Given the description of an element on the screen output the (x, y) to click on. 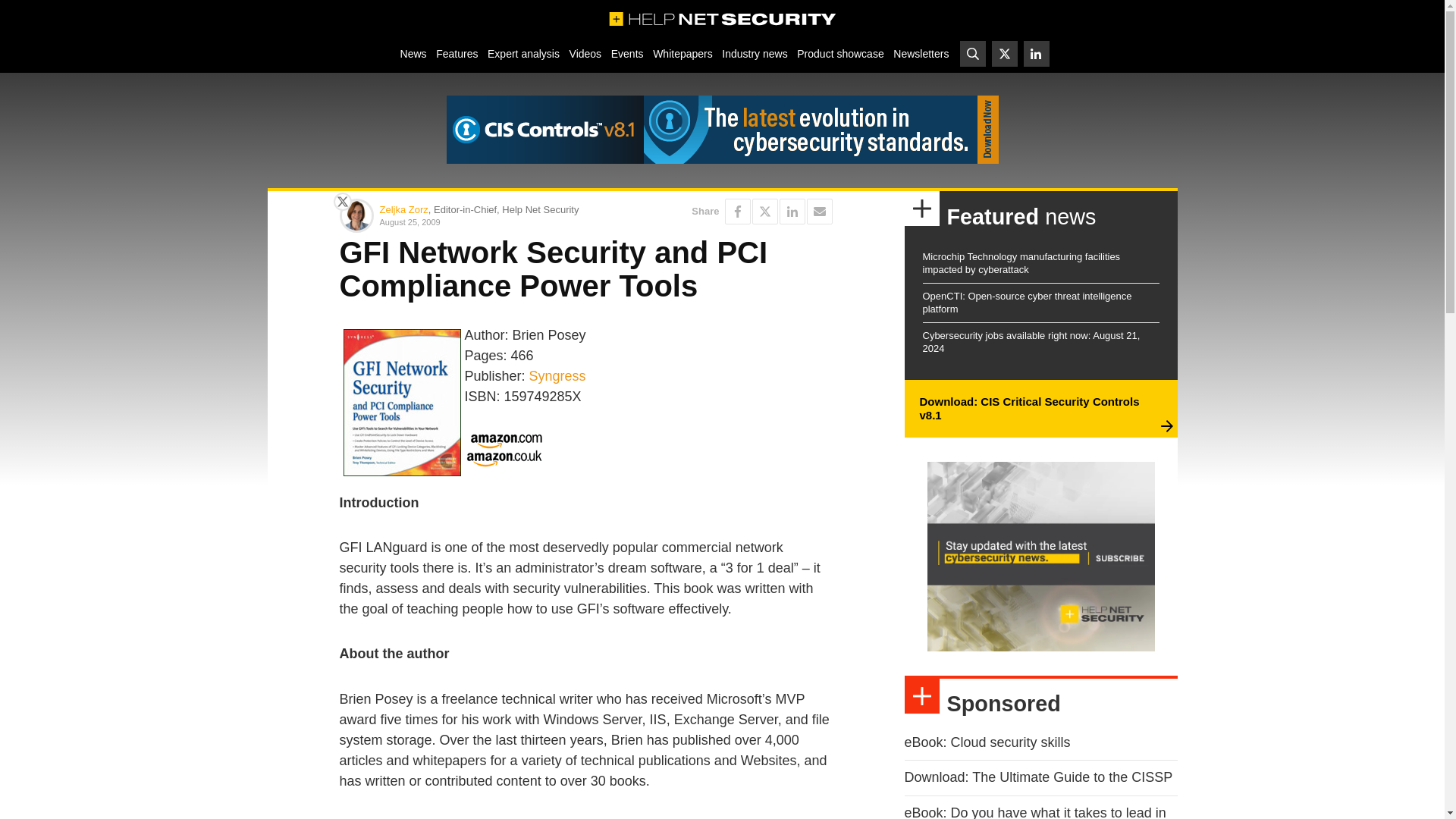
eBook: Do you have what it takes to lead in cybersecurity? (1035, 812)
Cybersecurity jobs available right now: August 21, 2024 (1030, 341)
Features (456, 53)
Videos (584, 53)
Newsletters (920, 53)
Download: The Ultimate Guide to the CISSP (1038, 776)
Events (626, 53)
Product showcase (840, 53)
News (412, 53)
